Given the description of an element on the screen output the (x, y) to click on. 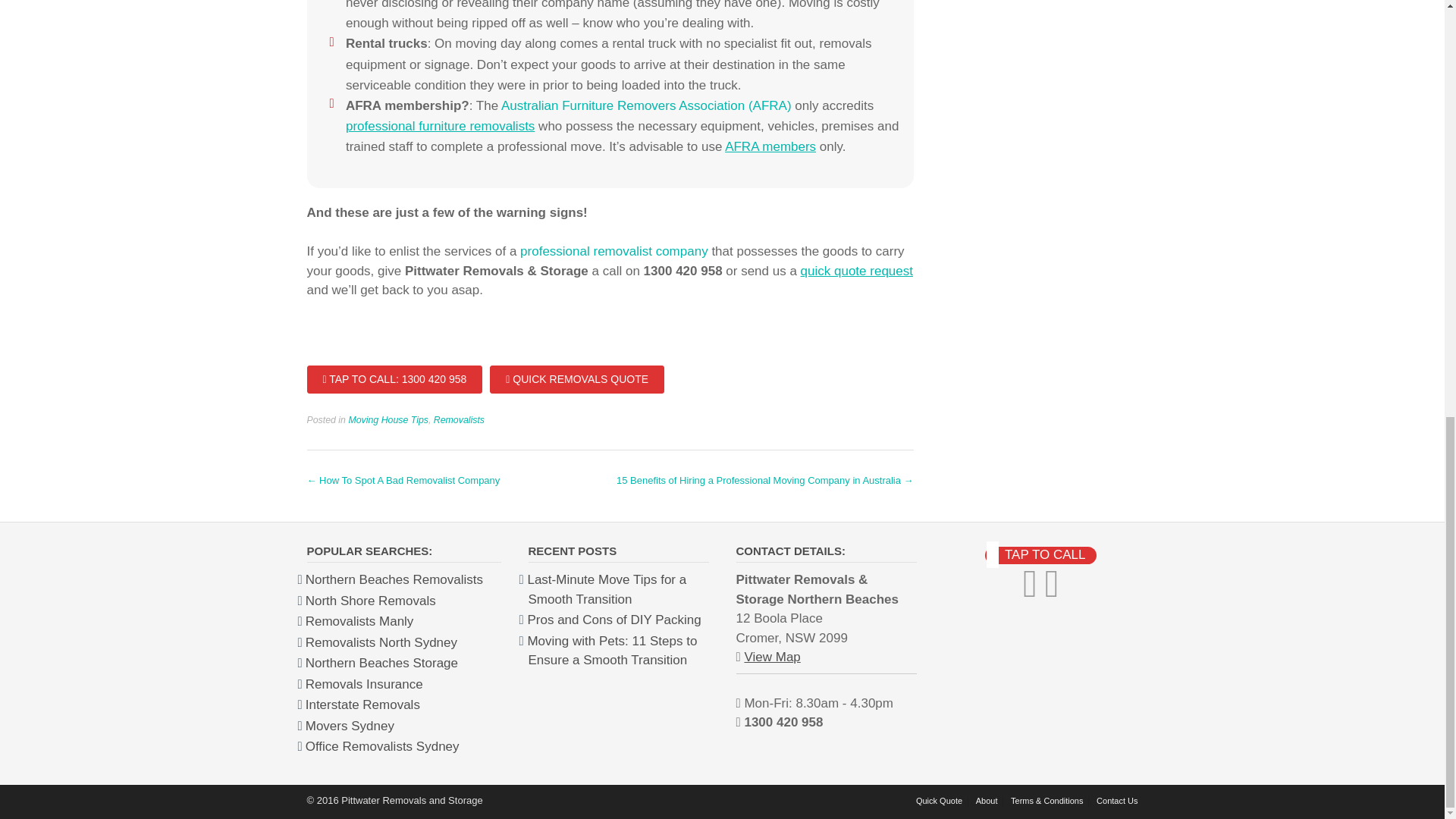
North Shore Removalists (370, 600)
Northern Beaches Removals (394, 579)
Furniture movers Sydney (349, 726)
